Given the description of an element on the screen output the (x, y) to click on. 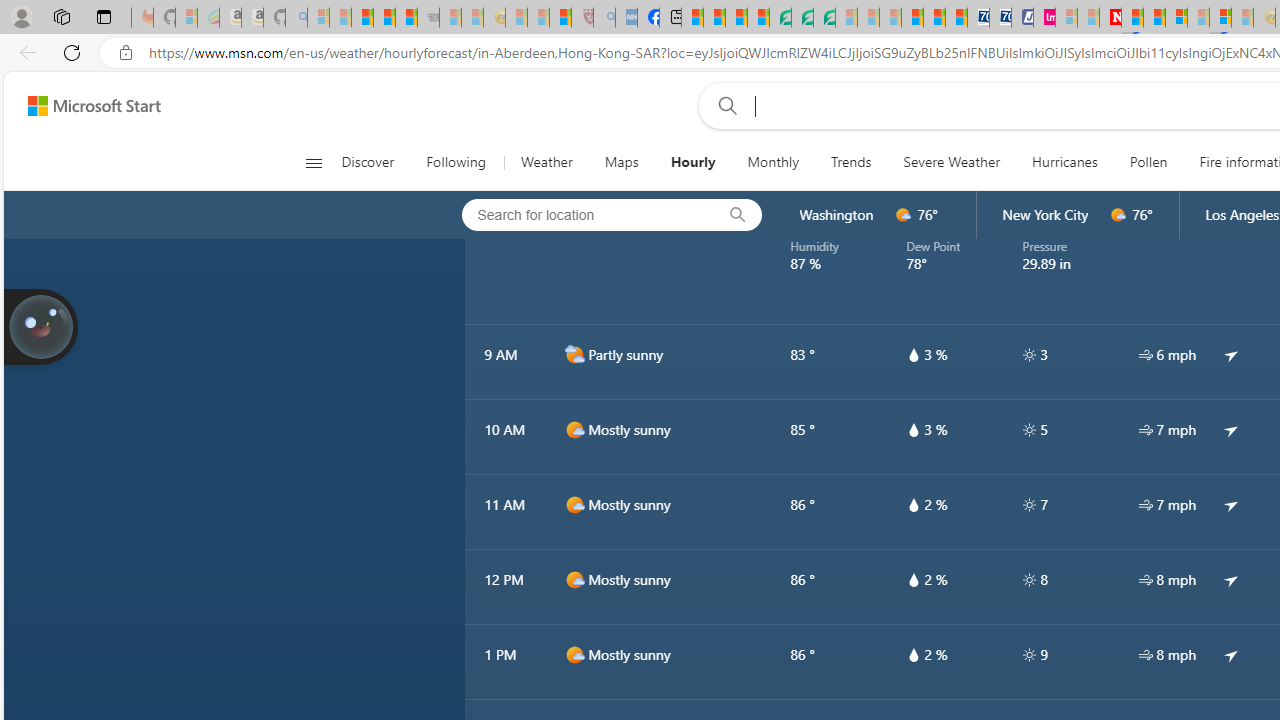
Monthly (773, 162)
Monthly (773, 162)
Hurricanes (1064, 162)
